Given the description of an element on the screen output the (x, y) to click on. 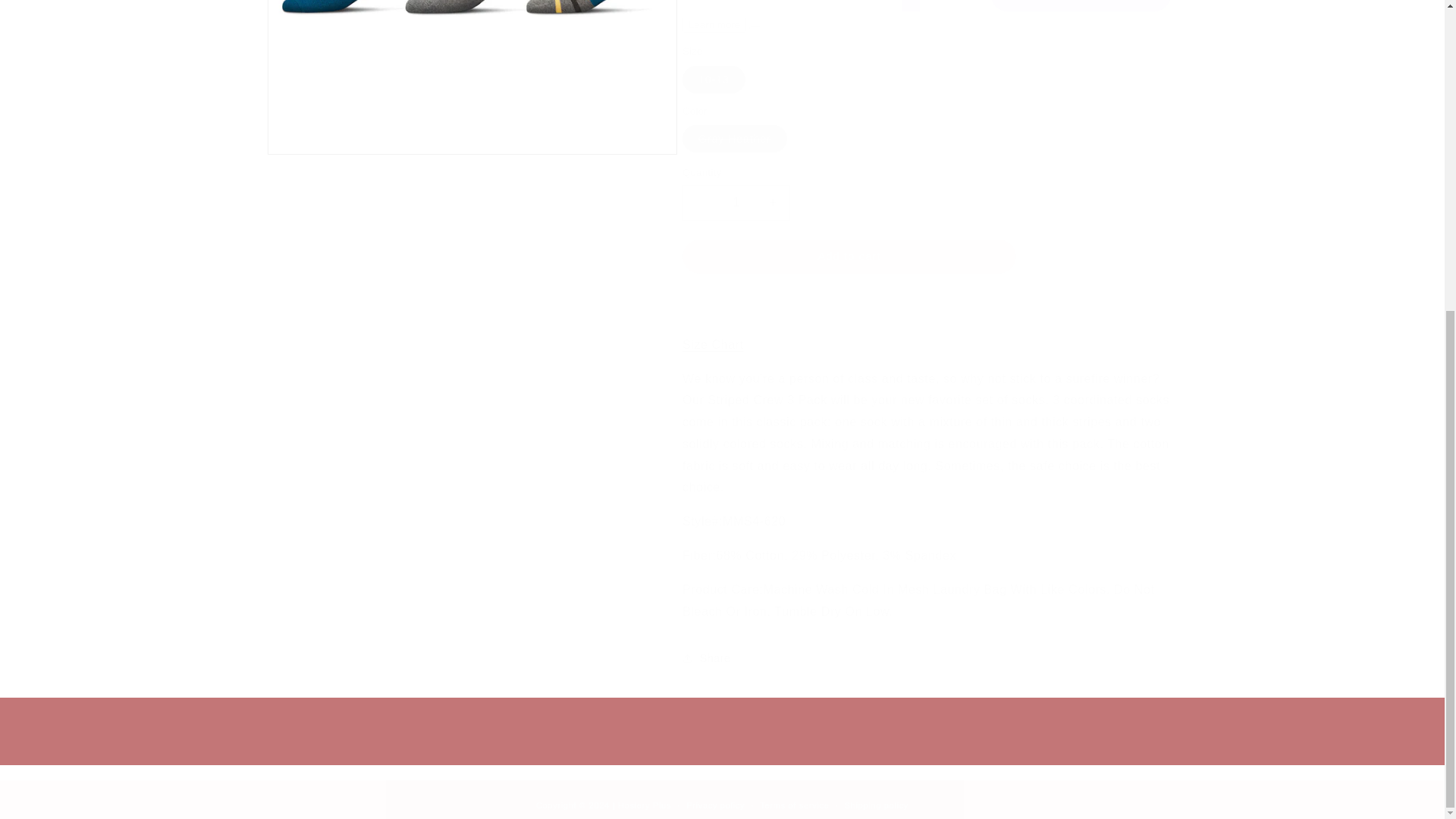
Open media 1 in modal (471, 77)
1 (736, 202)
